Given the description of an element on the screen output the (x, y) to click on. 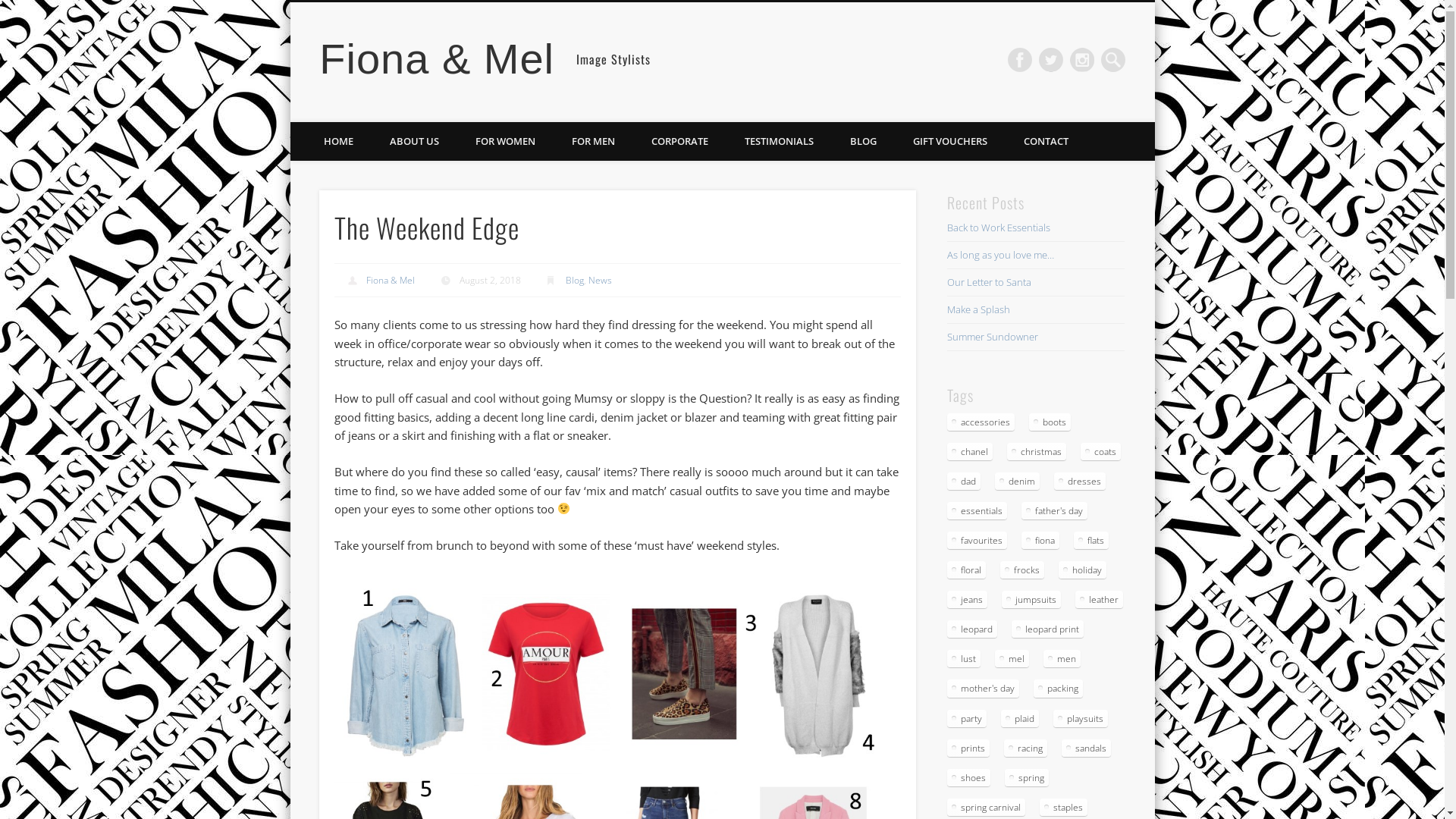
essentials Element type: text (977, 510)
Facebook Element type: text (1019, 59)
spring Element type: text (1026, 777)
Our Letter to Santa Element type: text (989, 281)
jeans Element type: text (967, 599)
News Element type: text (599, 279)
leather Element type: text (1099, 599)
dresses Element type: text (1079, 480)
flats Element type: text (1090, 540)
holiday Element type: text (1082, 569)
sandals Element type: text (1085, 747)
mel Element type: text (1011, 658)
father's day Element type: text (1054, 510)
frocks Element type: text (1022, 569)
packing Element type: text (1057, 687)
lust Element type: text (963, 658)
TESTIMONIALS Element type: text (778, 141)
fiona Element type: text (1040, 540)
Make a Splash Element type: text (978, 309)
staples Element type: text (1063, 806)
christmas Element type: text (1036, 451)
shoes Element type: text (968, 777)
dad Element type: text (963, 480)
denim Element type: text (1016, 480)
floral Element type: text (966, 569)
Twitter Element type: text (1050, 59)
mother's day Element type: text (983, 687)
party Element type: text (966, 718)
spring carnival Element type: text (986, 806)
FOR MEN Element type: text (593, 141)
HOME Element type: text (337, 141)
ABOUT US Element type: text (414, 141)
Back to Work Essentials Element type: text (998, 227)
leopard print Element type: text (1047, 628)
prints Element type: text (968, 747)
FOR WOMEN Element type: text (504, 141)
Flickr Element type: text (1082, 59)
men Element type: text (1061, 658)
CONTACT Element type: text (1045, 141)
racing Element type: text (1025, 747)
Search Element type: text (11, 9)
plaid Element type: text (1019, 718)
Blog Element type: text (574, 279)
Fiona & Mel Element type: text (436, 58)
BLOG Element type: text (862, 141)
playsuits Element type: text (1080, 718)
accessories Element type: text (980, 421)
leopard Element type: text (972, 628)
coats Element type: text (1100, 451)
GIFT VOUCHERS Element type: text (949, 141)
favourites Element type: text (977, 540)
Summer Sundowner Element type: text (992, 336)
jumpsuits Element type: text (1030, 599)
boots Element type: text (1049, 421)
CORPORATE Element type: text (678, 141)
chanel Element type: text (969, 451)
Fiona & Mel Element type: text (390, 279)
